Given the description of an element on the screen output the (x, y) to click on. 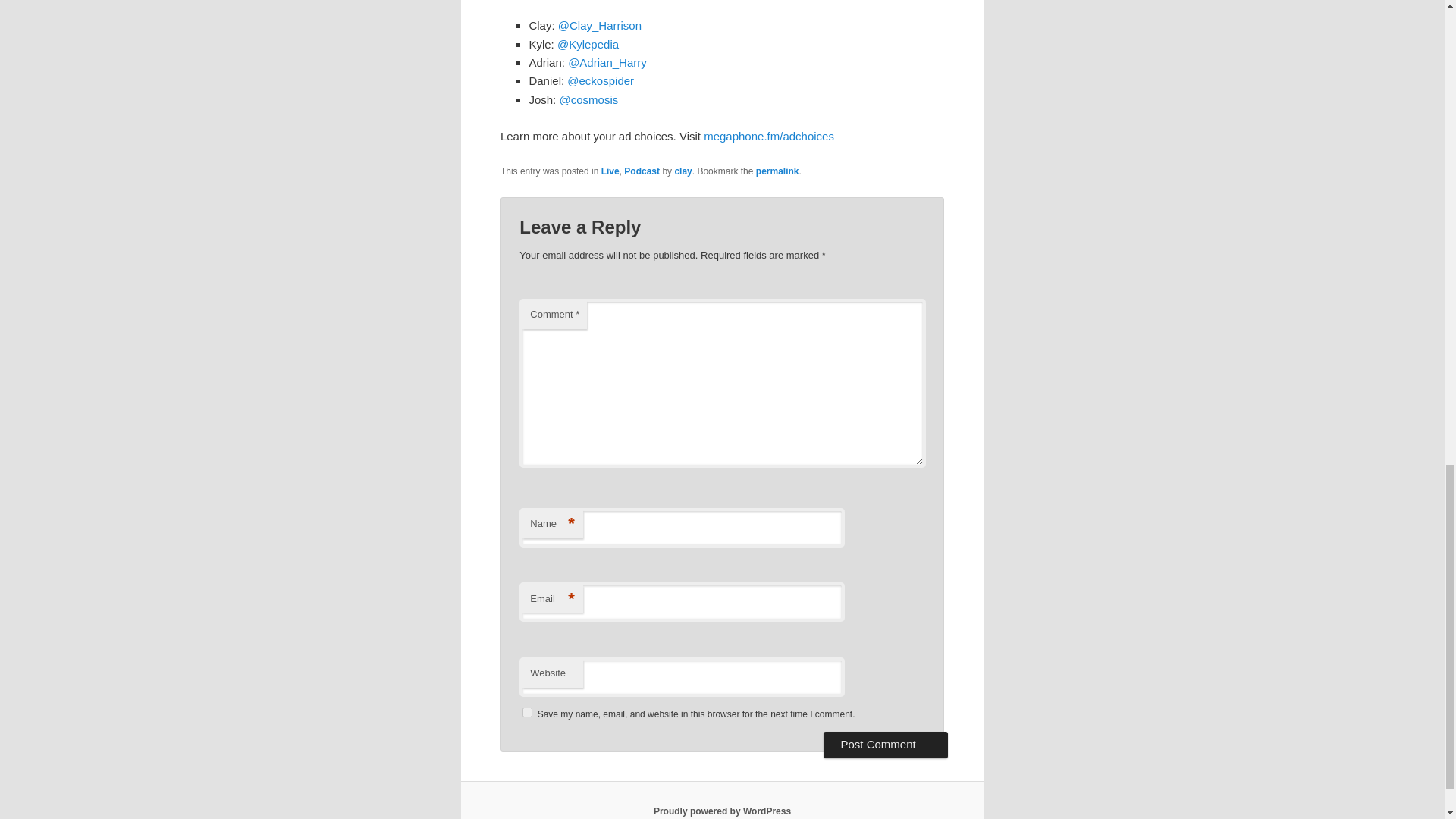
Podcast (641, 171)
permalink (777, 171)
clay (682, 171)
Live (610, 171)
Semantic Personal Publishing Platform (721, 810)
Post Comment (885, 744)
yes (527, 712)
Proudly powered by WordPress (721, 810)
Post Comment (885, 744)
